Given the description of an element on the screen output the (x, y) to click on. 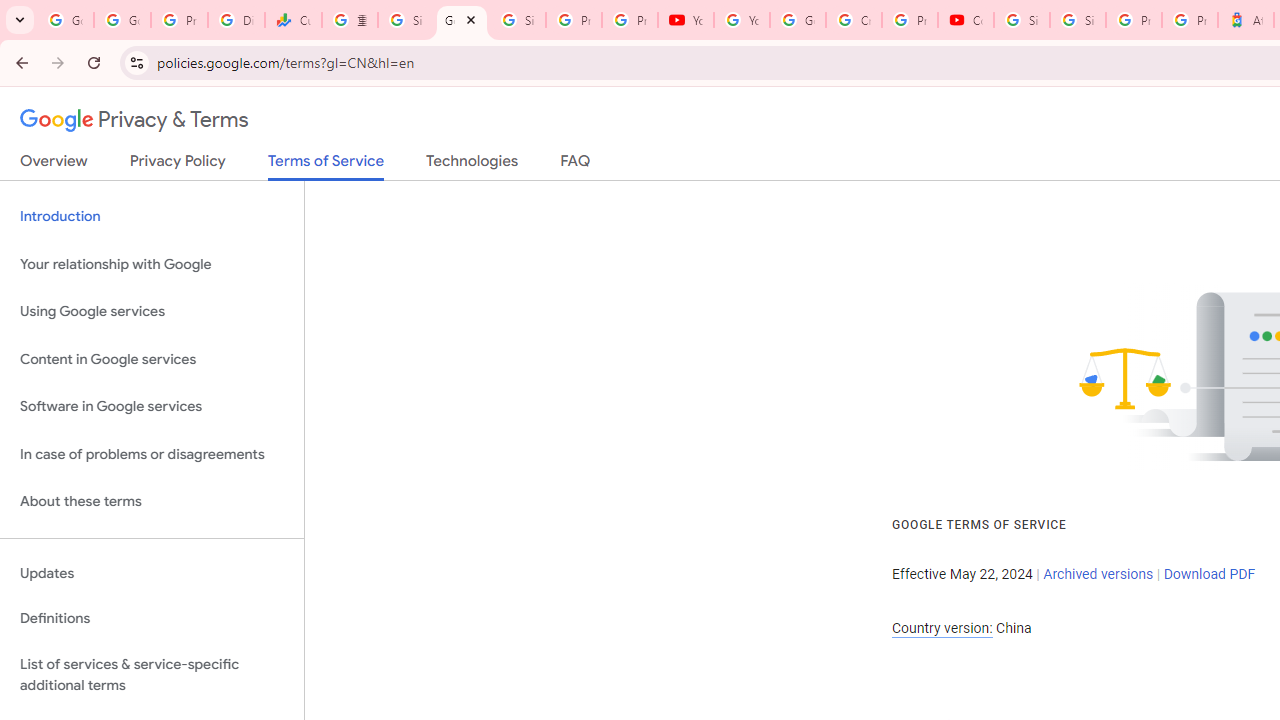
Google Workspace Admin Community (65, 20)
Download PDF (1209, 574)
Introduction (152, 216)
Google Account Help (797, 20)
Privacy Checkup (629, 20)
About these terms (152, 502)
